Given the description of an element on the screen output the (x, y) to click on. 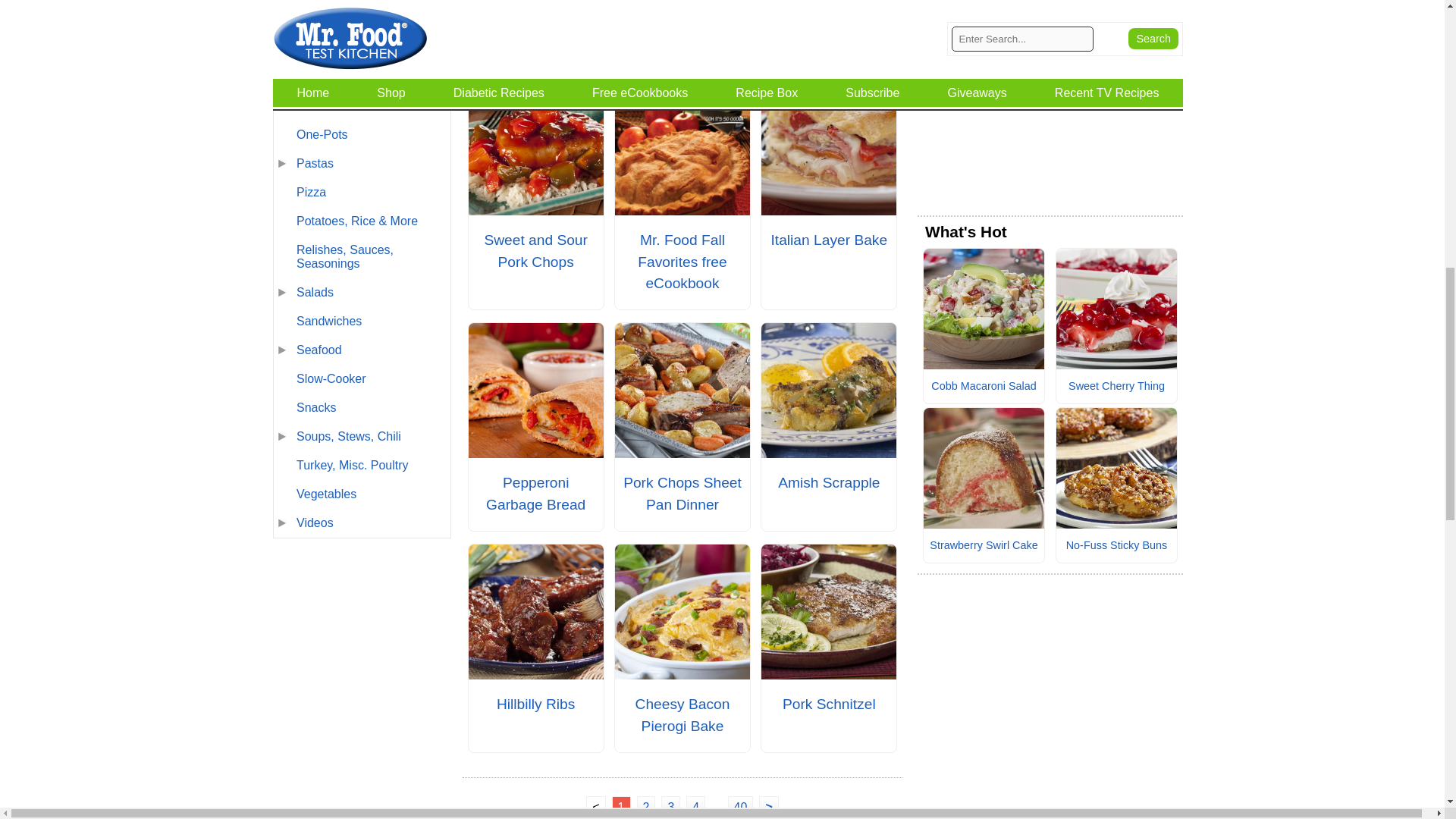
Go to Page 4 (694, 807)
Go to Last Page (741, 807)
Go to Page 2 (646, 807)
Go to Page 3 (670, 807)
Go to Next Page (767, 807)
